Given the description of an element on the screen output the (x, y) to click on. 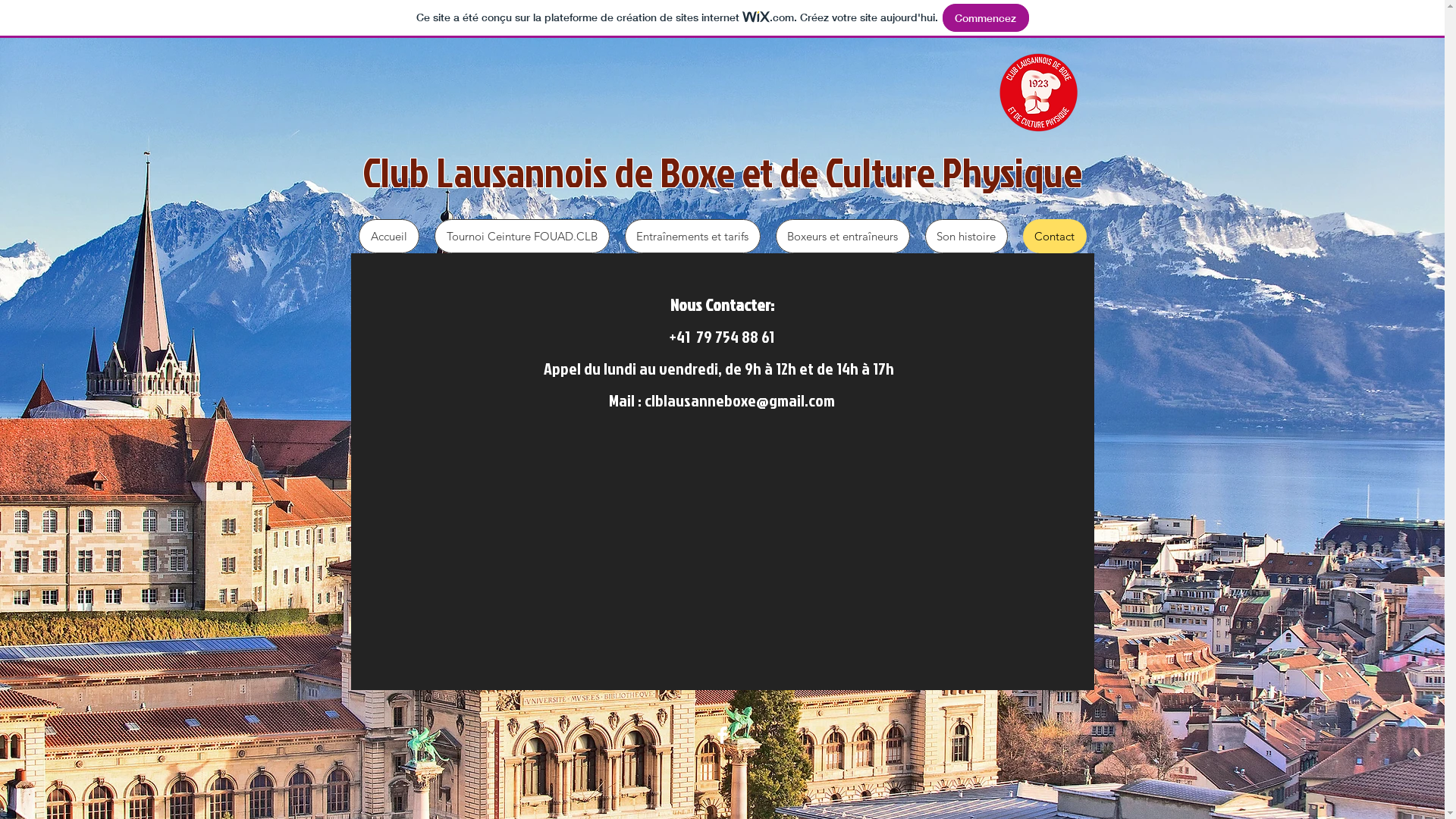
Contact Element type: text (1053, 236)
Son histoire Element type: text (966, 236)
Club Lausannois de Boxe Element type: text (548, 171)
  Element type: text (897, 367)
Tournoi Ceinture FOUAD.CLB Element type: text (520, 236)
Google Maps Element type: hover (721, 583)
Mail : clblausanneboxe@gmail.com Element type: text (721, 399)
Accueil Element type: text (387, 236)
CLUB LAUSANNOIS DE BOXE_RGB.png Element type: hover (1037, 92)
